Given the description of an element on the screen output the (x, y) to click on. 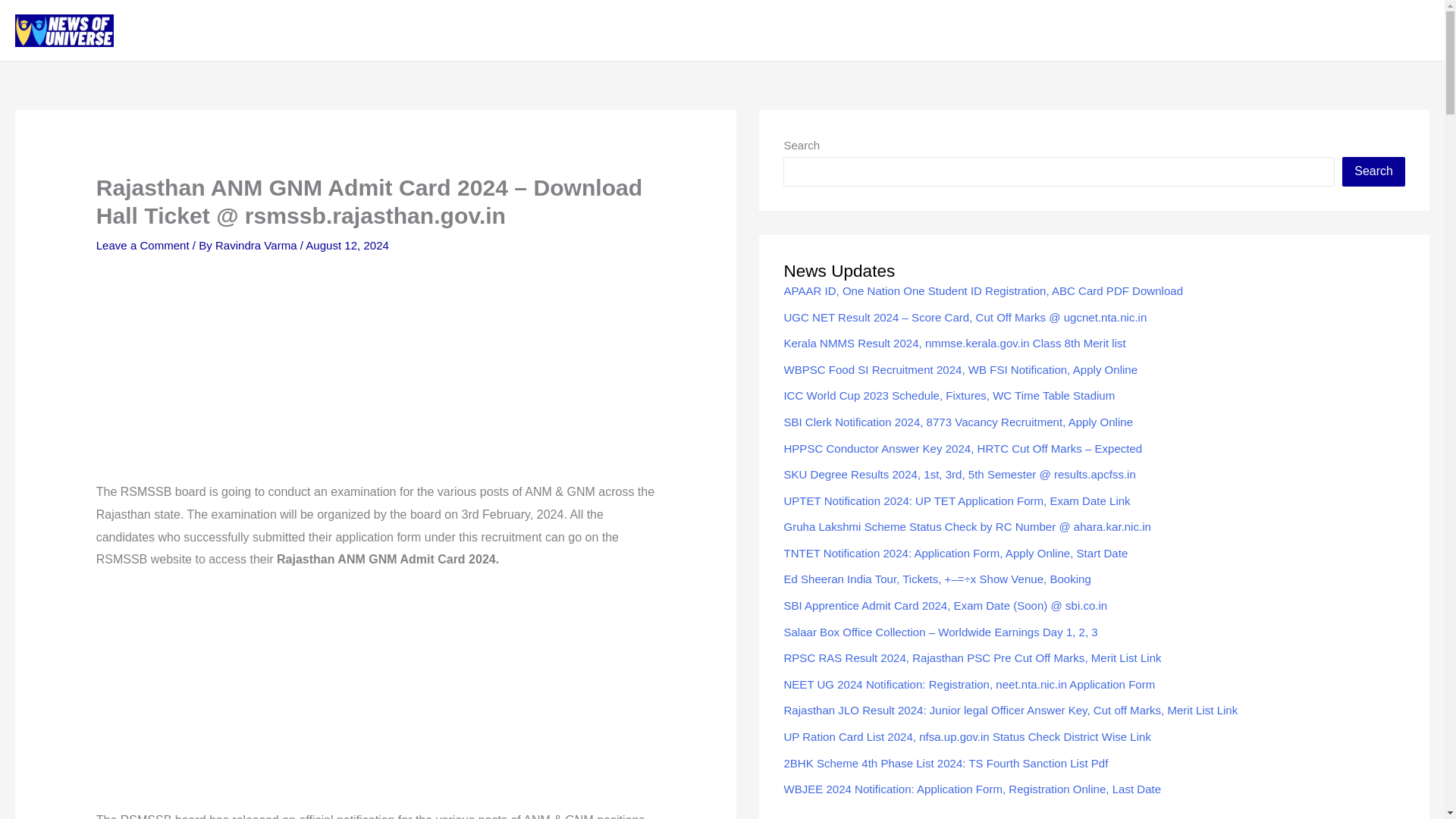
Contact (1169, 30)
Admit Card (1244, 30)
Leave a Comment (142, 245)
Privacy Policy (1086, 30)
About Us (999, 30)
Advertisement (376, 696)
Time Table (1387, 30)
View all posts by Ravindra Varma (257, 245)
Home (933, 30)
Result (1316, 30)
